Given the description of an element on the screen output the (x, y) to click on. 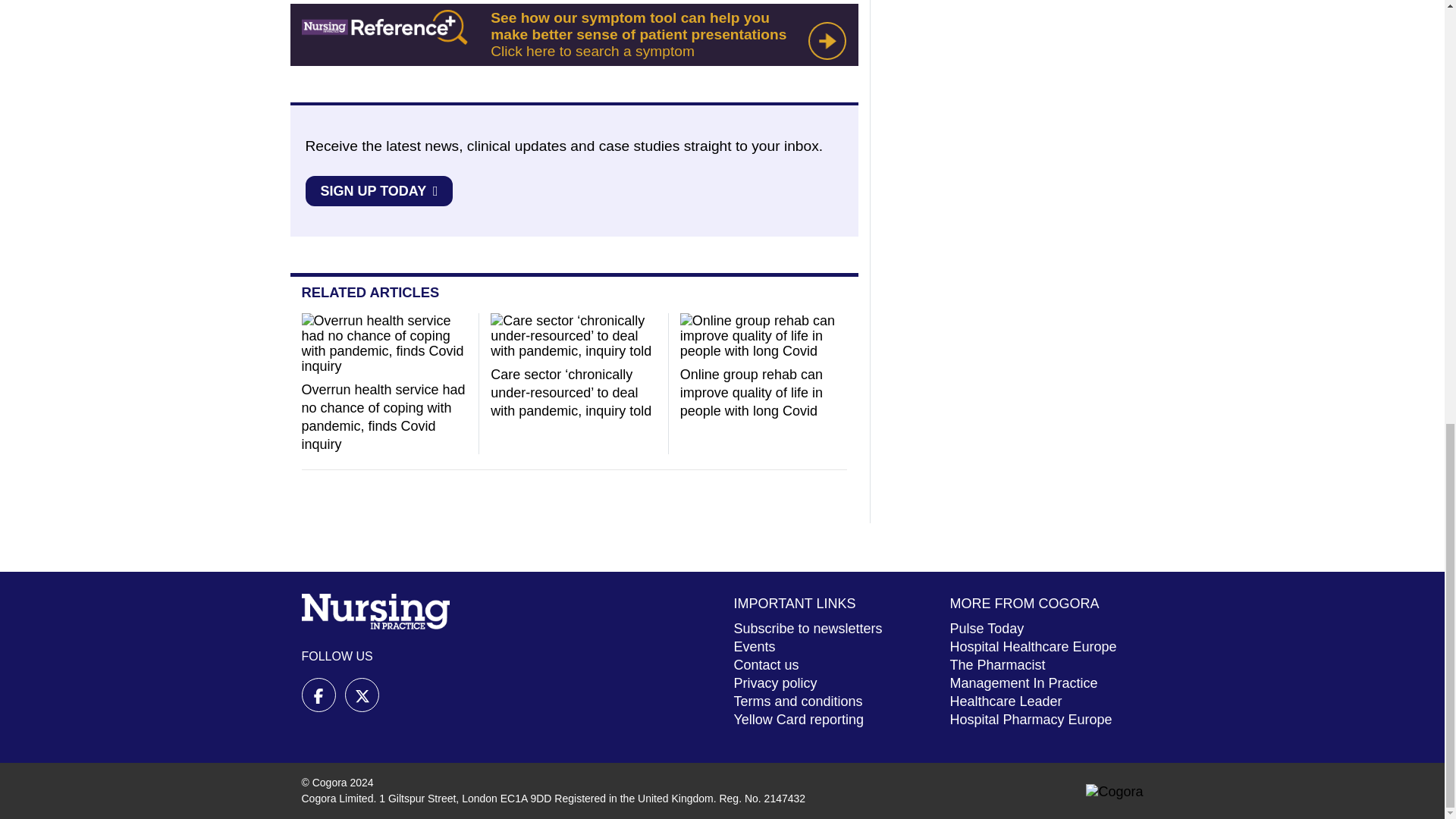
Pulse Today (986, 628)
The Pharmacist (997, 664)
Management In Practice (1023, 683)
Healthcare Leader (1005, 701)
Hospital Pharmacy Europe (1030, 719)
Terms and conditions (798, 701)
Privacy policy (774, 683)
Contact us (766, 664)
Hospital Healthcare Europe (1032, 646)
Yellow Card reporting (798, 719)
Subscribe to newsletters (807, 628)
Events (754, 646)
